Given the description of an element on the screen output the (x, y) to click on. 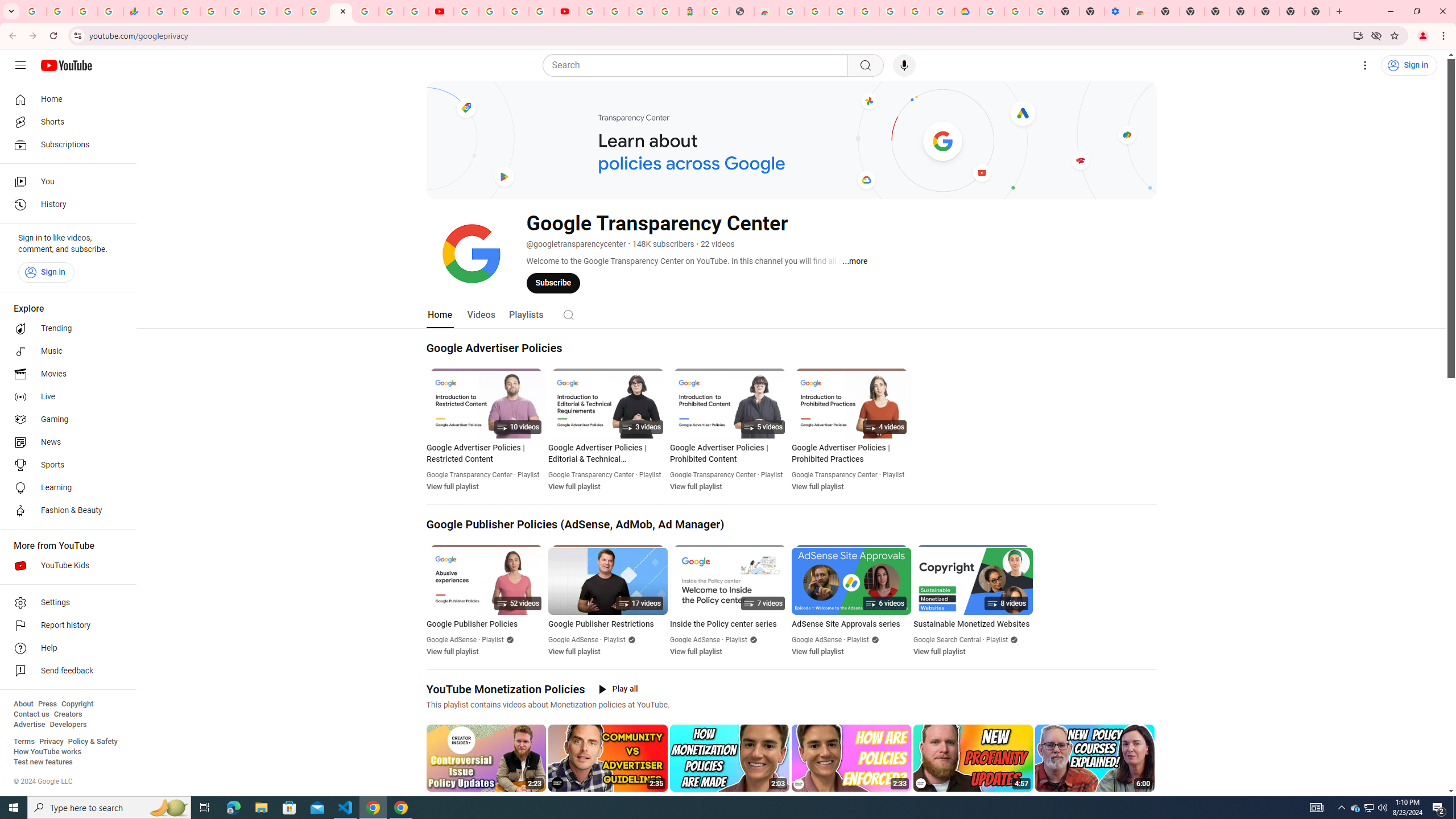
Send feedback (64, 671)
Advertise (29, 724)
Terms (23, 741)
Install YouTube (1358, 35)
YouTube (465, 11)
Google Advertiser Policies | Prohibited Content (729, 453)
Developers (68, 724)
Google Transparency Center (833, 474)
Google Publisher Policies (486, 624)
Creators (67, 714)
Google Search Central (946, 639)
Privacy (51, 741)
Settings (1365, 65)
